Given the description of an element on the screen output the (x, y) to click on. 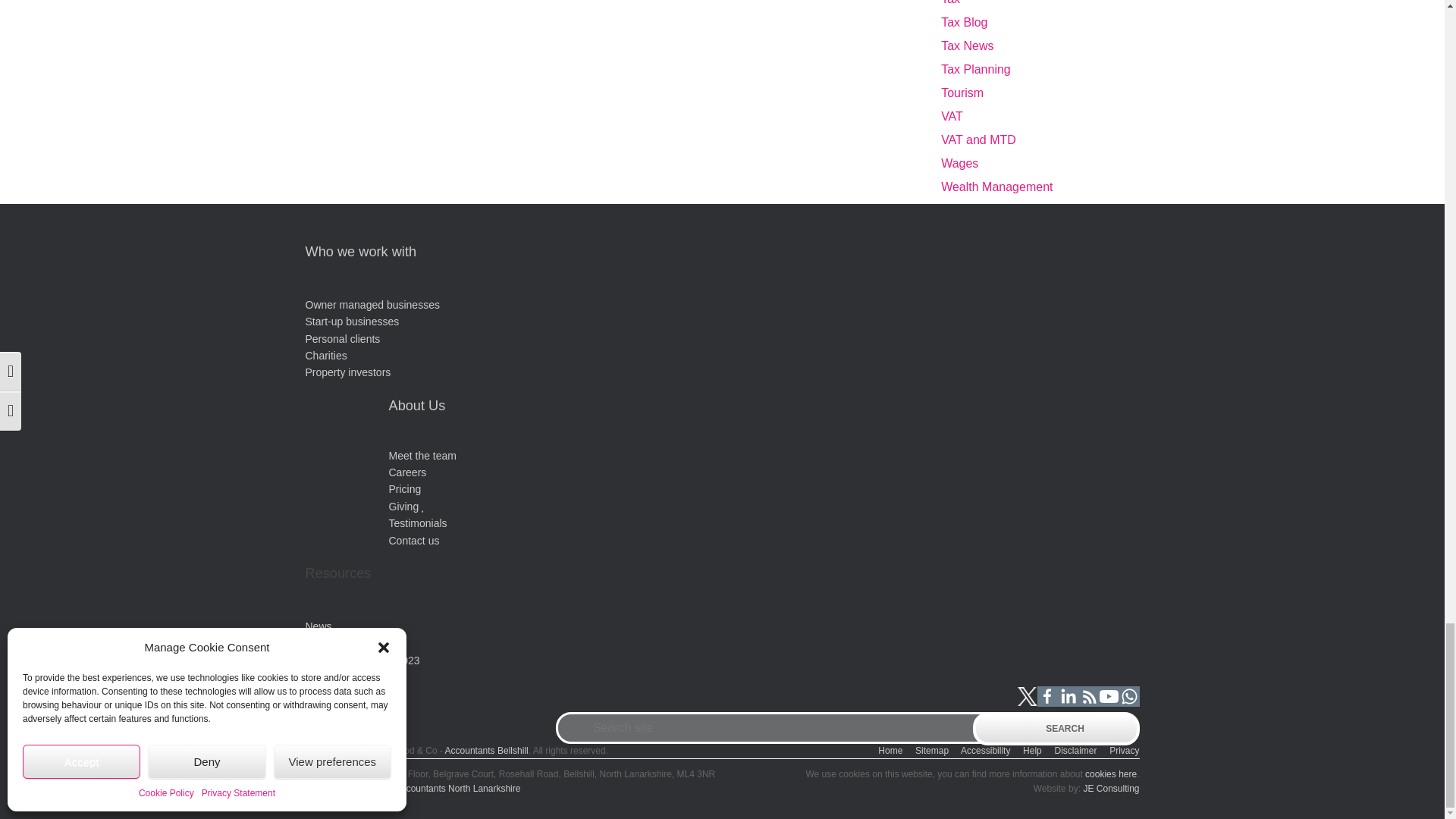
SEARCH (1055, 728)
